Given the description of an element on the screen output the (x, y) to click on. 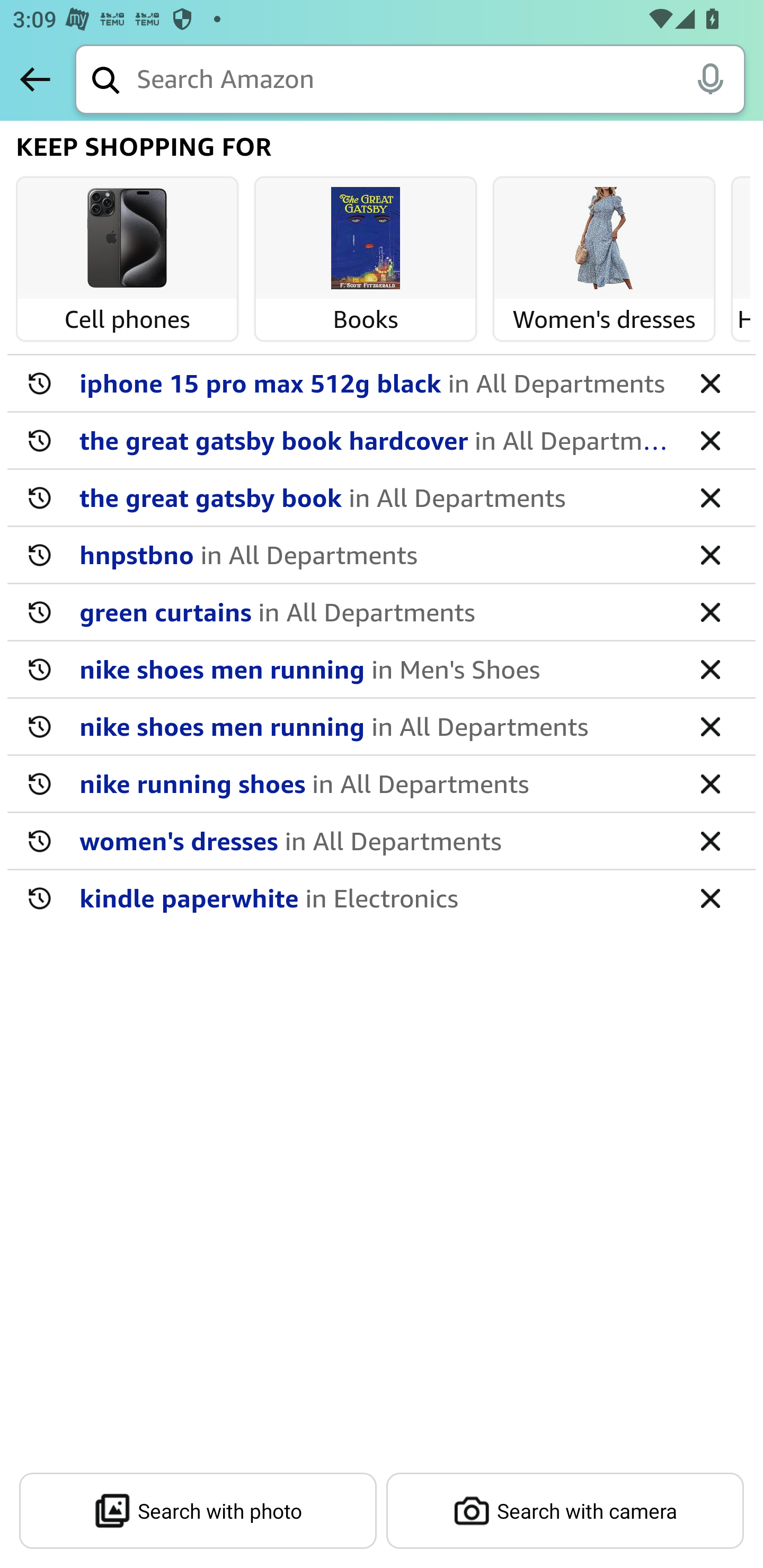
Search Amazon (440, 80)
Back (35, 78)
Alexa (710, 78)
Cell phones (126, 238)
Books (365, 238)
Women's dresses (603, 238)
iphone 15 pro max 512g black delete (381, 383)
iphone 15 pro max 512g black (374, 382)
delete (710, 382)
the great gatsby book hardcover delete (381, 440)
the great gatsby book hardcover (374, 439)
delete (710, 439)
the great gatsby book delete (381, 497)
the great gatsby book (374, 496)
delete (710, 496)
hnpstbno delete (381, 554)
hnpstbno (374, 554)
delete (710, 554)
green curtains delete (381, 612)
green curtains (374, 611)
delete (710, 611)
nike shoes men running delete (381, 669)
nike shoes men running (374, 668)
delete (710, 668)
nike shoes men running delete (381, 726)
nike shoes men running (374, 725)
delete (710, 725)
nike running shoes delete (381, 783)
nike running shoes (374, 783)
delete (710, 783)
women's dresses delete (381, 841)
women's dresses (374, 840)
delete (710, 840)
kindle paperwhite delete (381, 897)
kindle paperwhite (374, 897)
delete (710, 897)
Search with photo (197, 1510)
Search with camera (564, 1510)
